Given the description of an element on the screen output the (x, y) to click on. 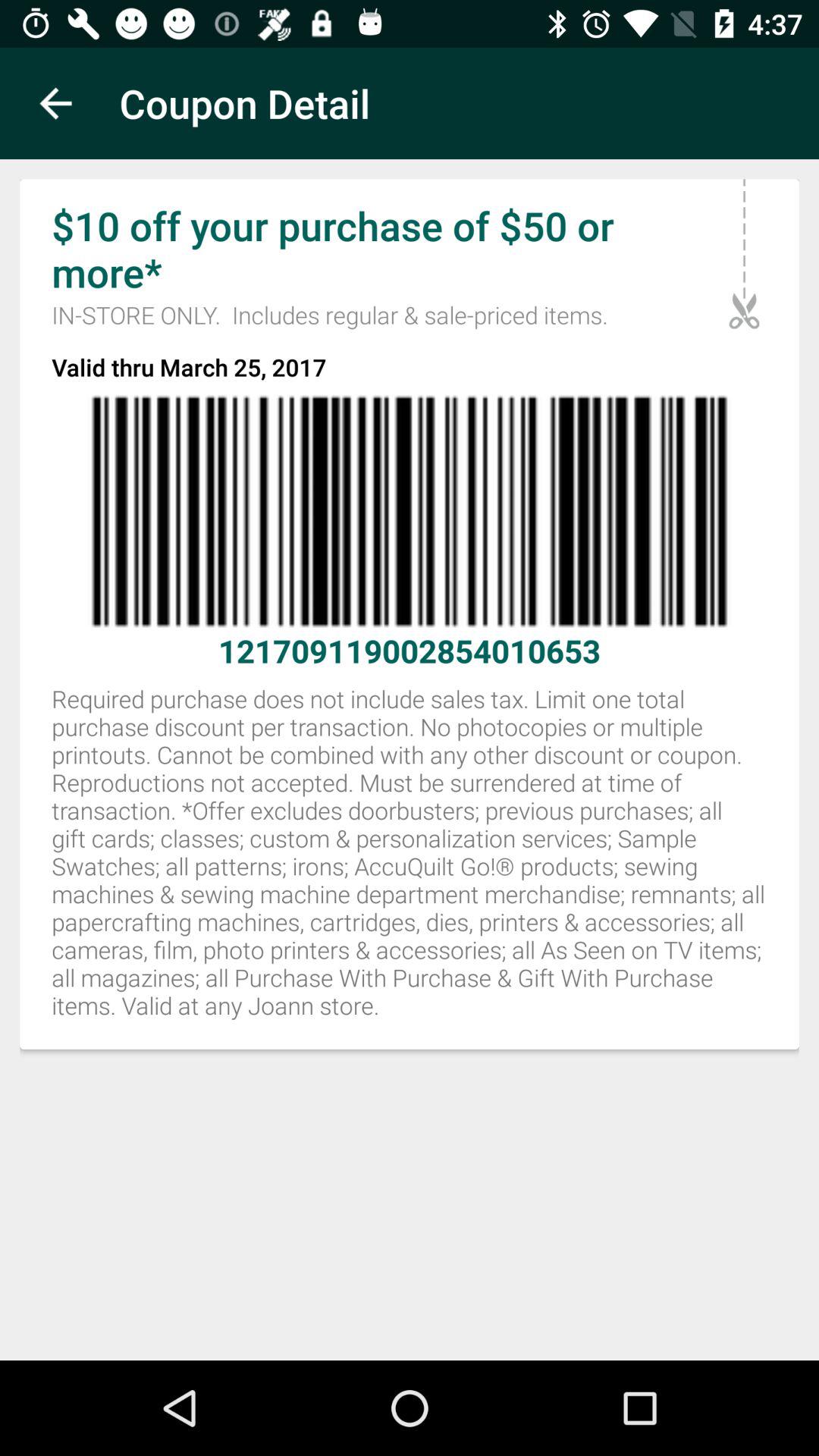
click item to the left of the coupon detail icon (55, 103)
